Given the description of an element on the screen output the (x, y) to click on. 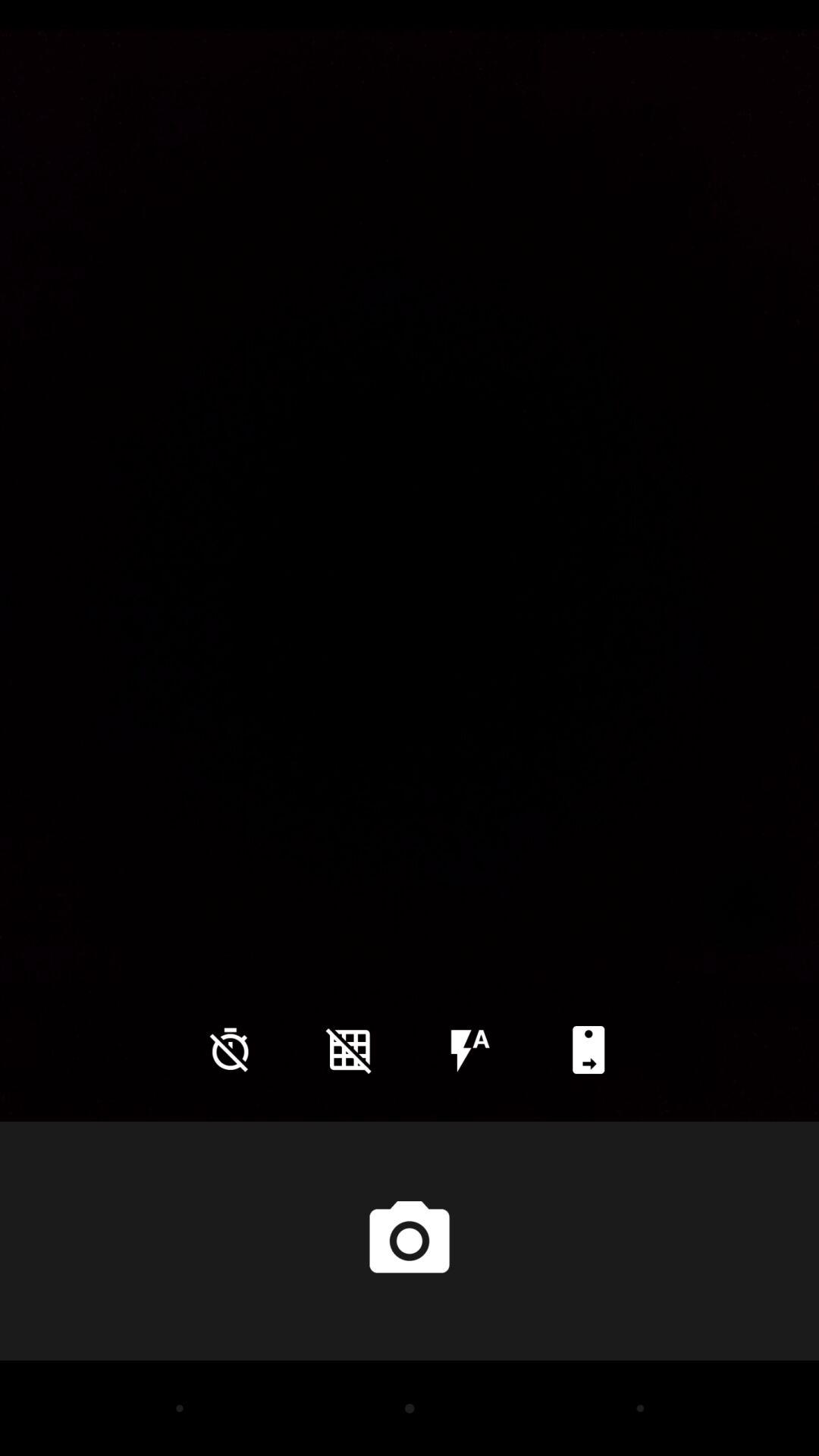
open the icon on the right (746, 905)
